Given the description of an element on the screen output the (x, y) to click on. 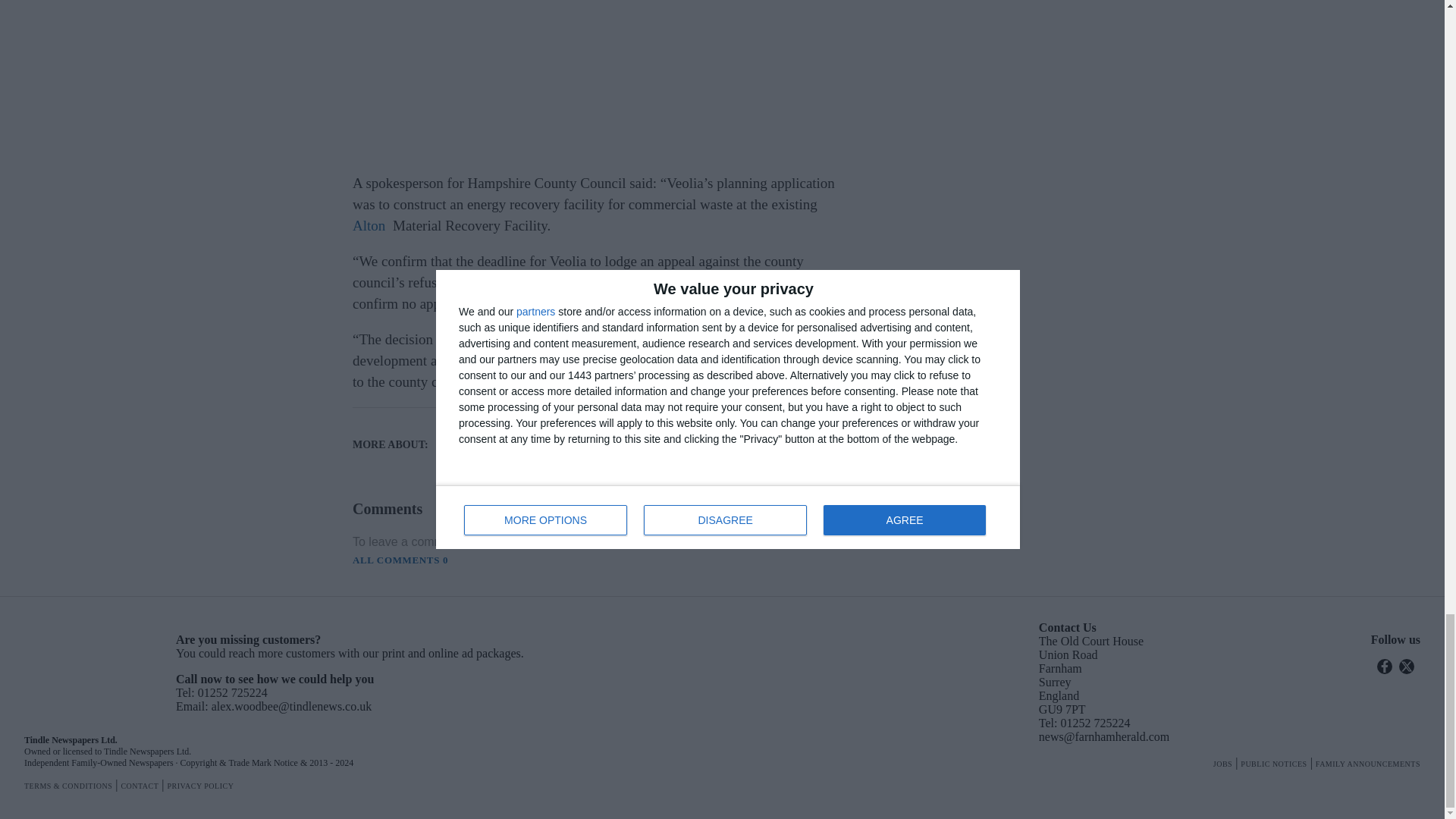
Hampshire (502, 460)
Hampshire County Council (502, 435)
Alton (615, 435)
Alton (368, 225)
